Given the description of an element on the screen output the (x, y) to click on. 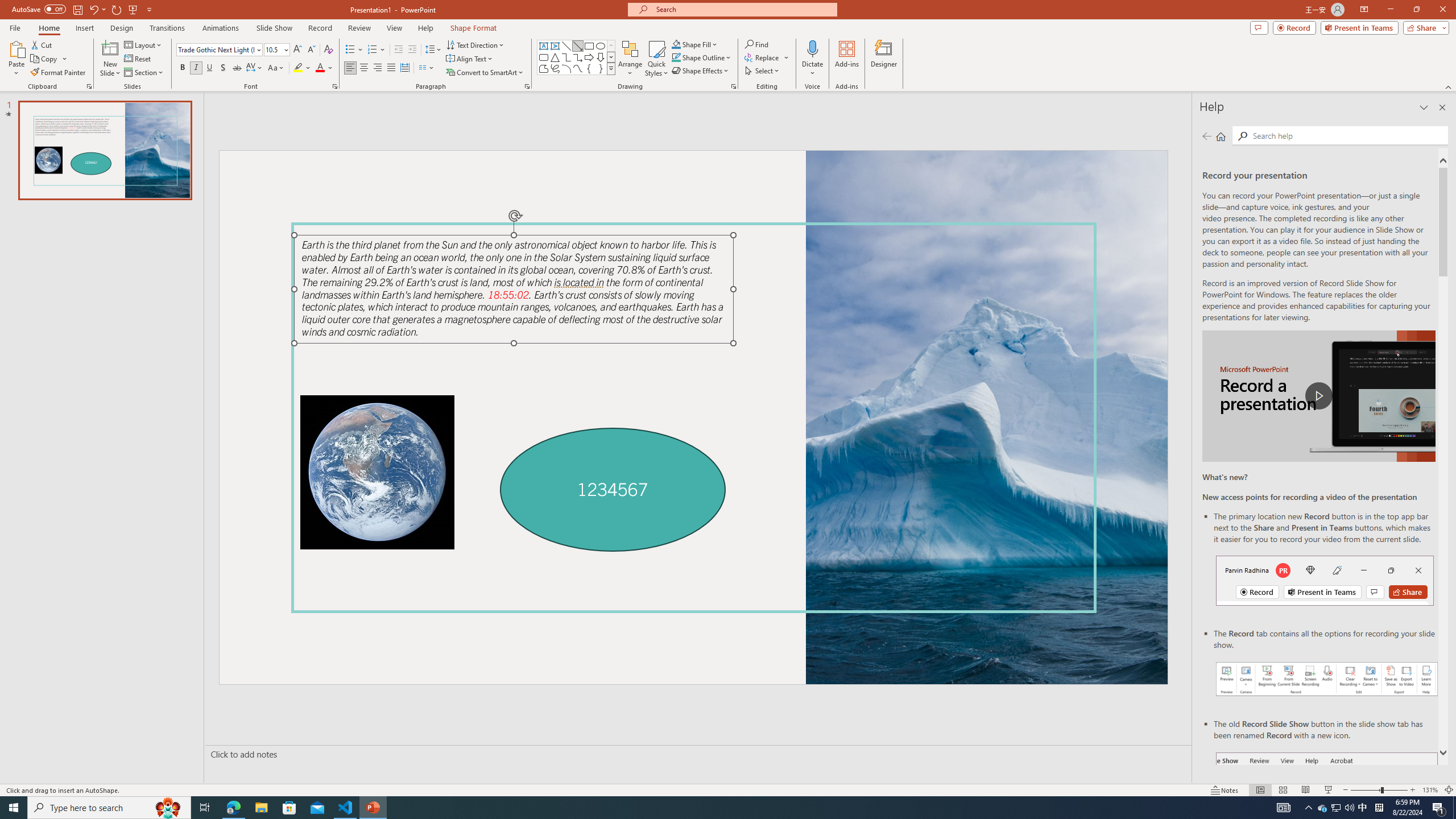
play Record a Presentation (1318, 395)
